Given the description of an element on the screen output the (x, y) to click on. 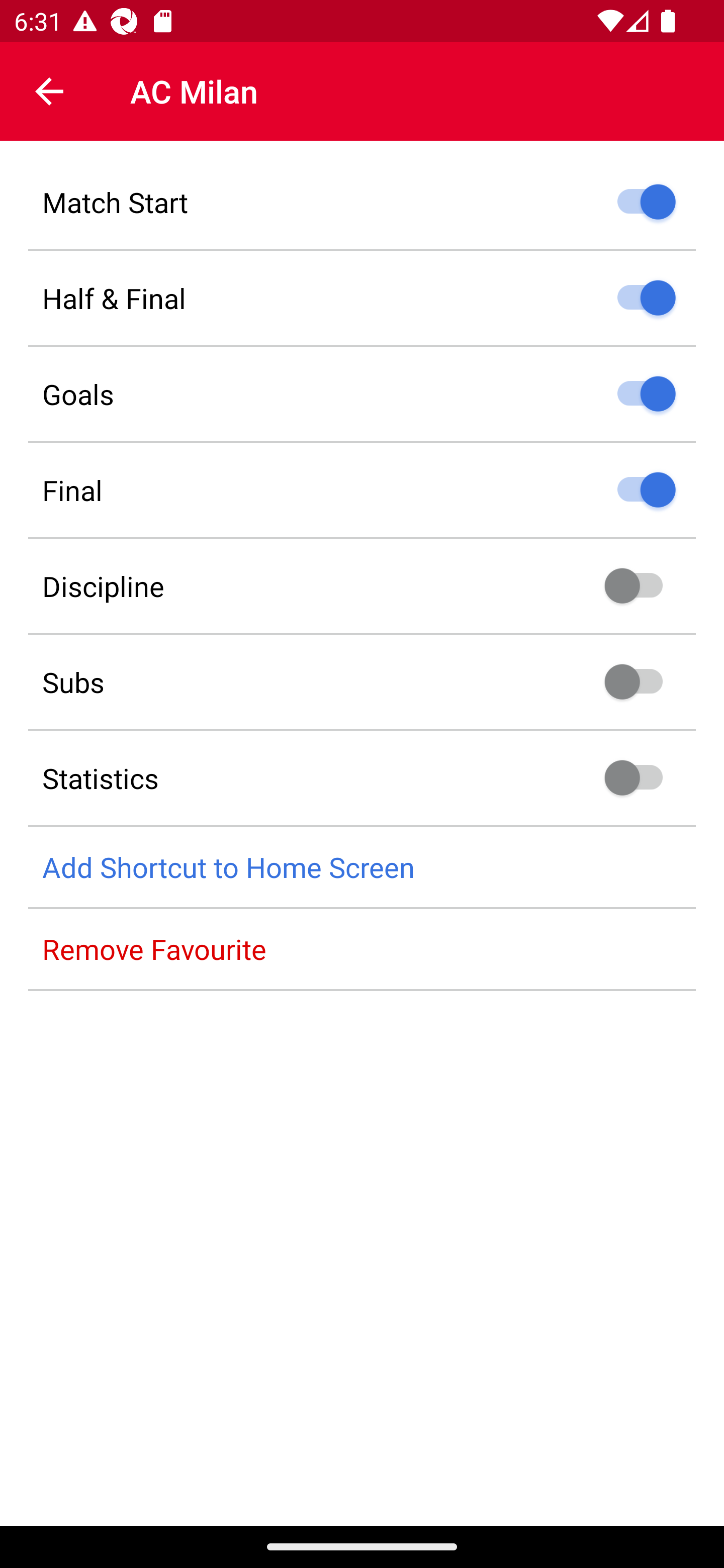
Navigate up (49, 91)
Add Shortcut to Home Screen (362, 867)
Remove Favourite (362, 948)
